Given the description of an element on the screen output the (x, y) to click on. 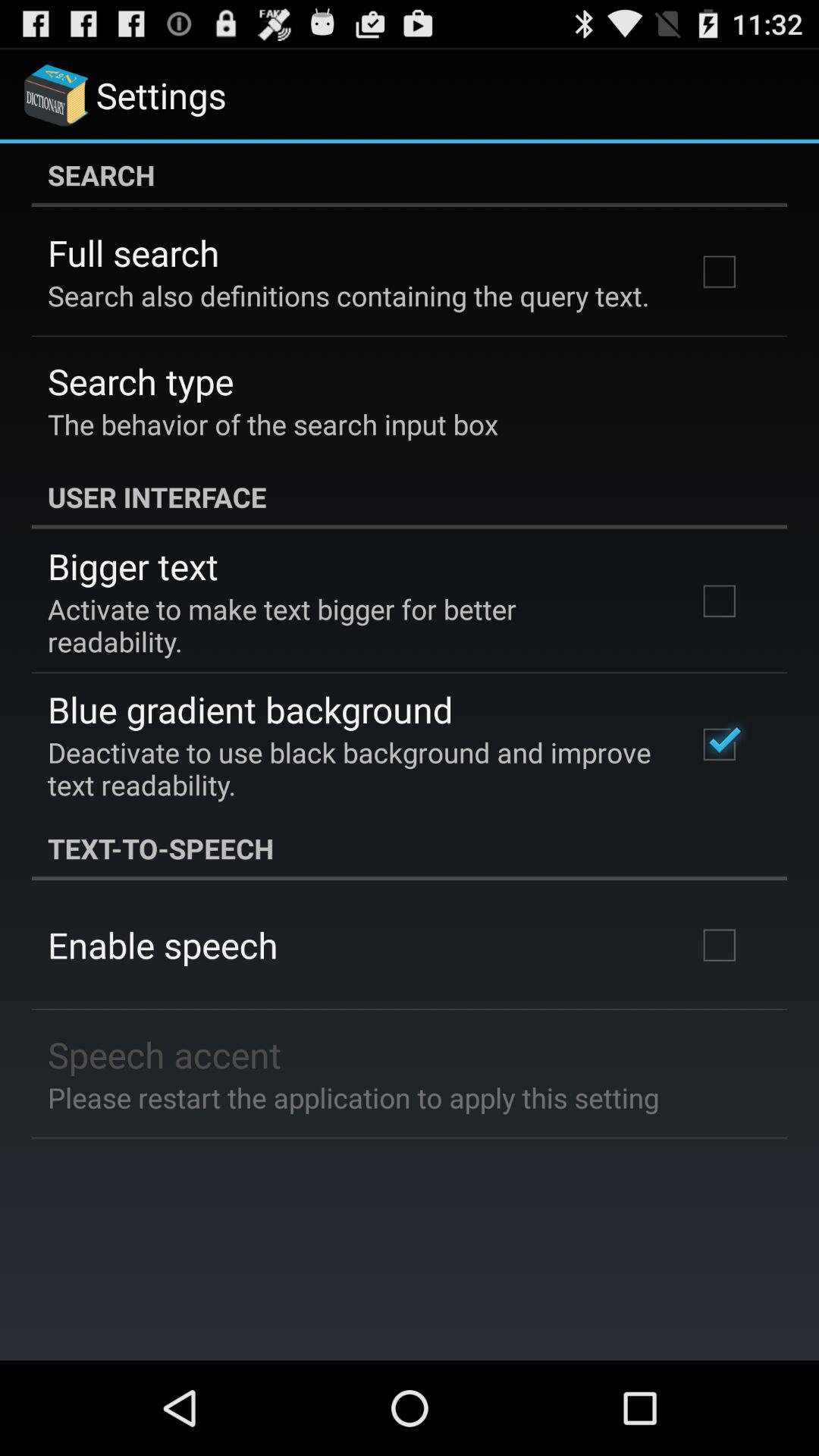
turn off the speech accent icon (164, 1054)
